Given the description of an element on the screen output the (x, y) to click on. 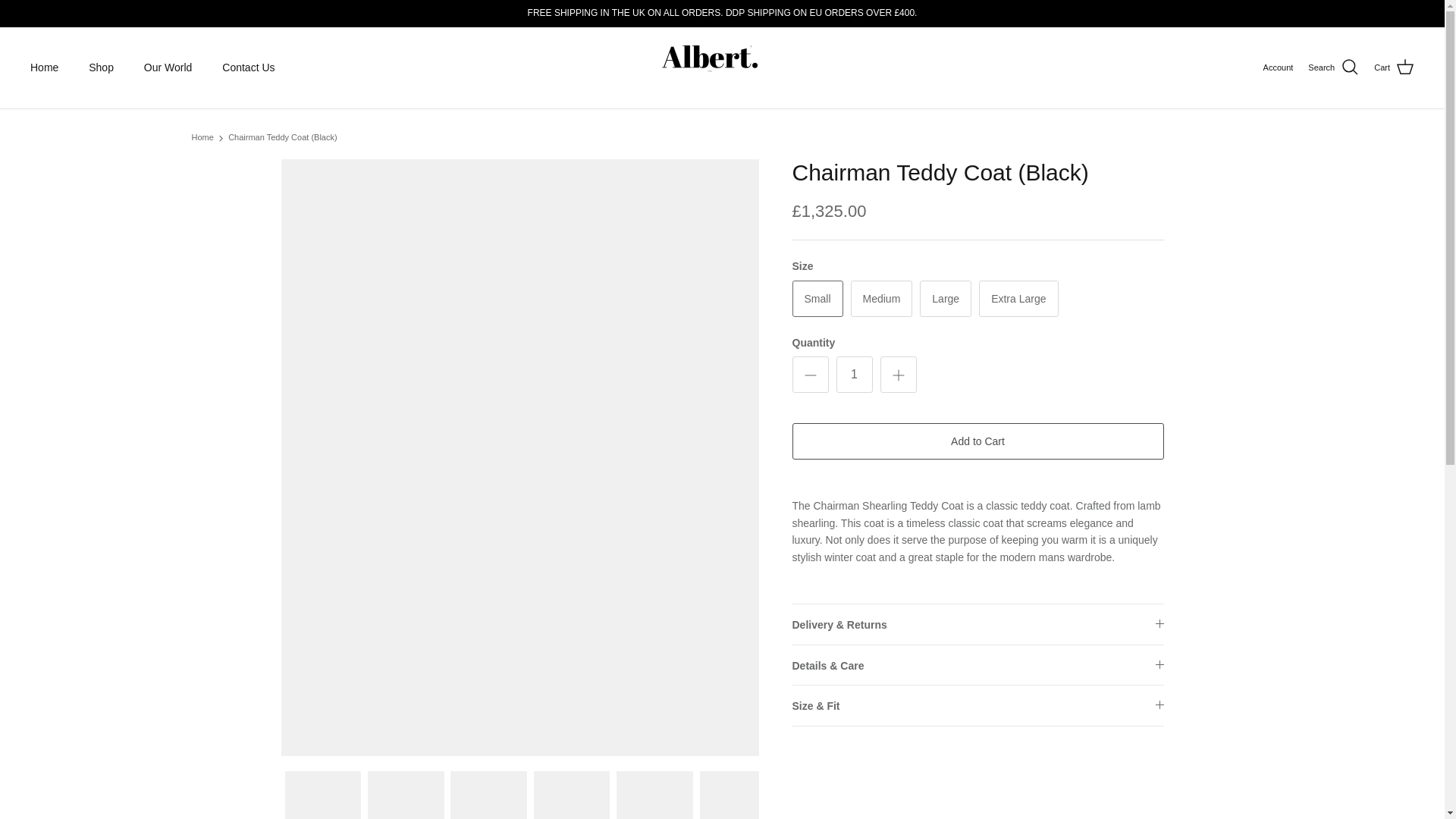
Our World (168, 67)
Plus (897, 375)
Home (43, 67)
Search (1332, 66)
Minus (809, 375)
Cart (1393, 66)
Shop (101, 67)
Account (1278, 68)
Albert Clothing (722, 67)
1 (853, 374)
